Given the description of an element on the screen output the (x, y) to click on. 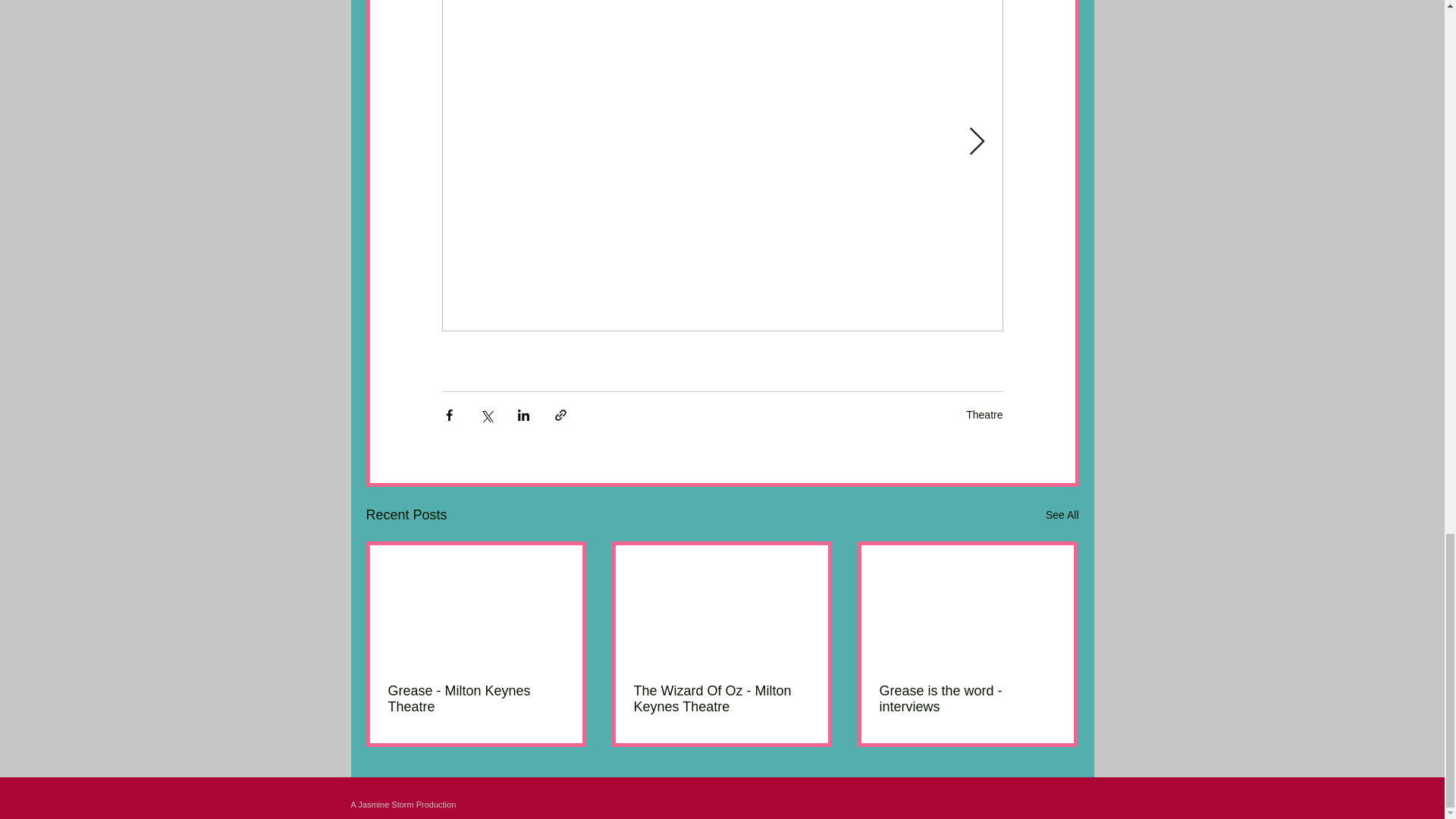
Grease is the word - interviews (967, 698)
See All (1061, 515)
The Wizard Of Oz - Milton Keynes Theatre (721, 698)
Grease - Milton Keynes Theatre (476, 698)
Theatre (984, 414)
